Given the description of an element on the screen output the (x, y) to click on. 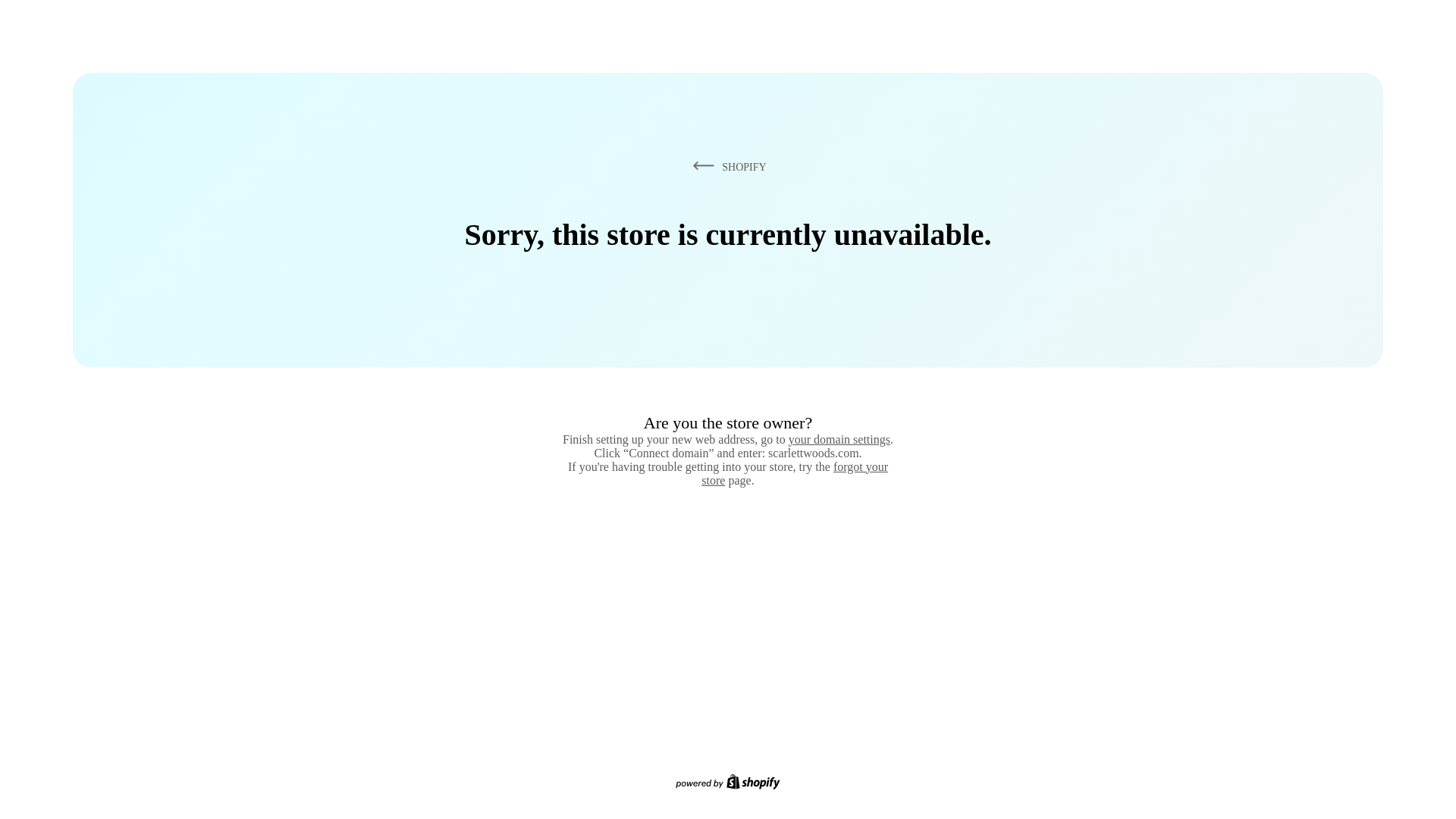
forgot your store (794, 473)
your domain settings (839, 439)
SHOPIFY (726, 166)
